Given the description of an element on the screen output the (x, y) to click on. 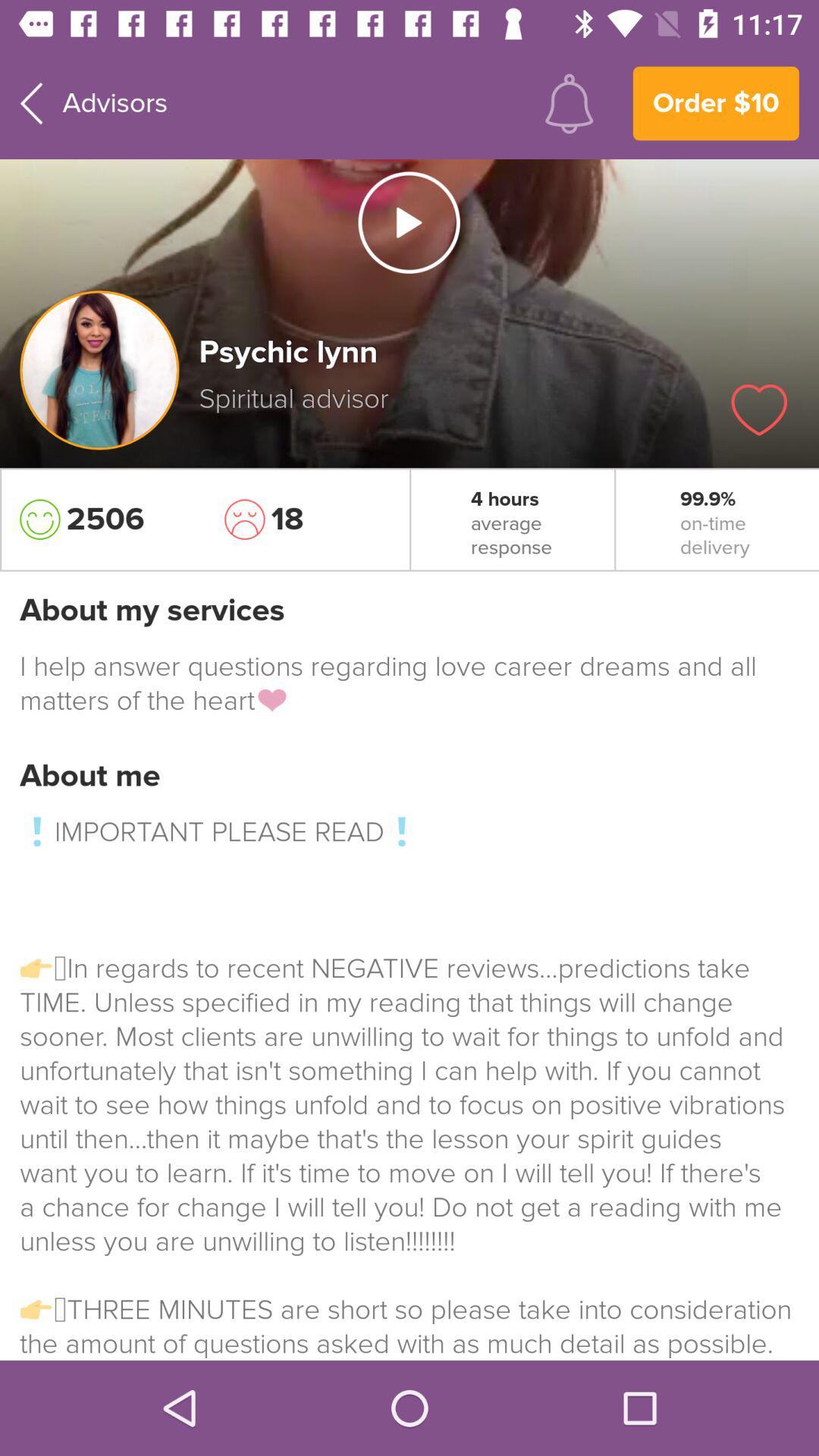
flip until the 18 icon (306, 519)
